Given the description of an element on the screen output the (x, y) to click on. 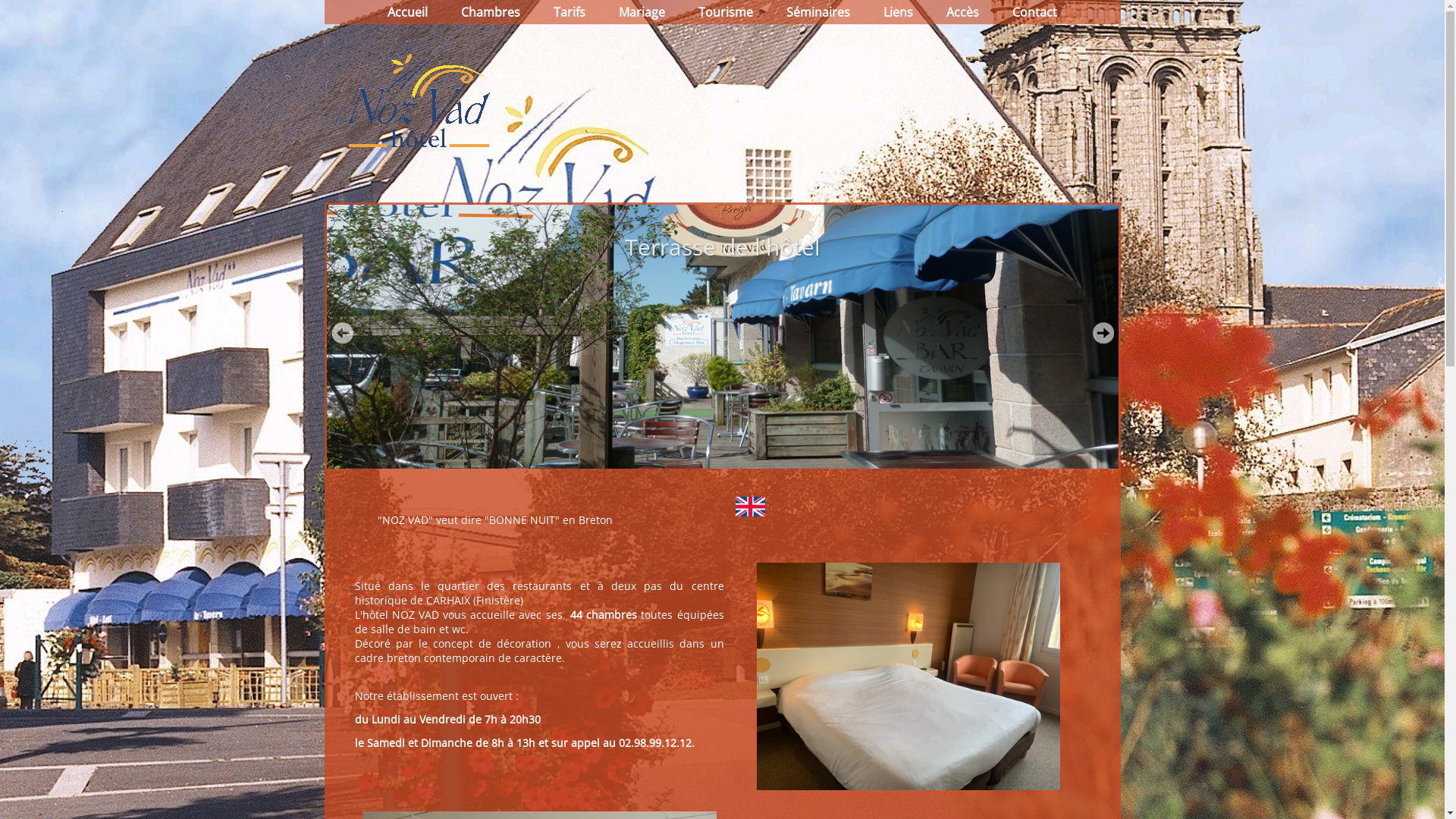
< Element type: text (341, 332)
Mariage Element type: text (641, 12)
Contact Element type: text (1034, 12)
Tarifs Element type: text (569, 12)
> Element type: text (1103, 332)
Tourisme Element type: text (725, 12)
Liens Element type: text (897, 12)
Accueil Element type: text (407, 12)
Chambres Element type: text (490, 12)
